Given the description of an element on the screen output the (x, y) to click on. 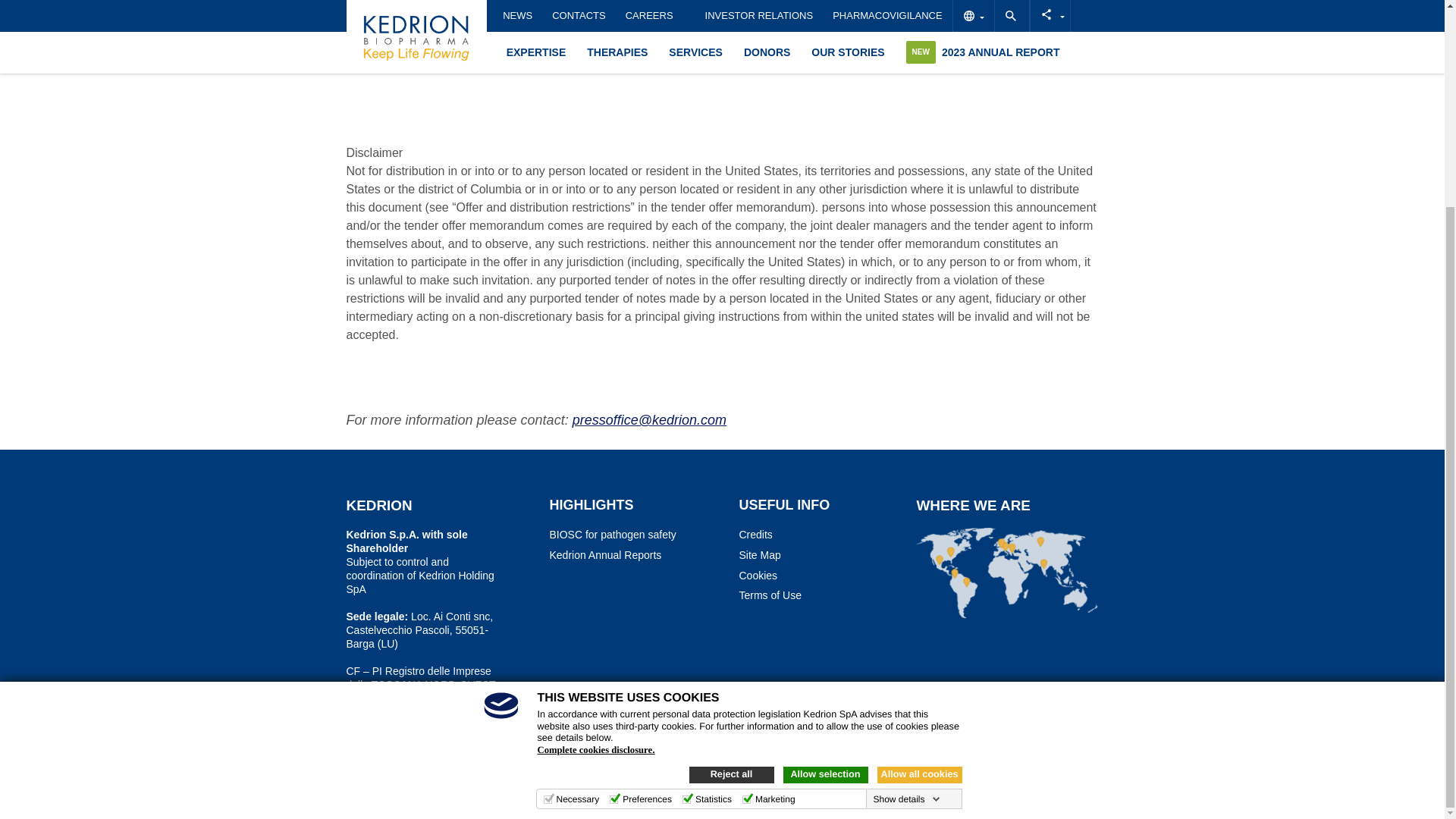
Complete cookies disclosure (594, 483)
Allow all cookies (918, 508)
Allow selection (825, 508)
Show details (905, 532)
Reject all (730, 508)
